Given the description of an element on the screen output the (x, y) to click on. 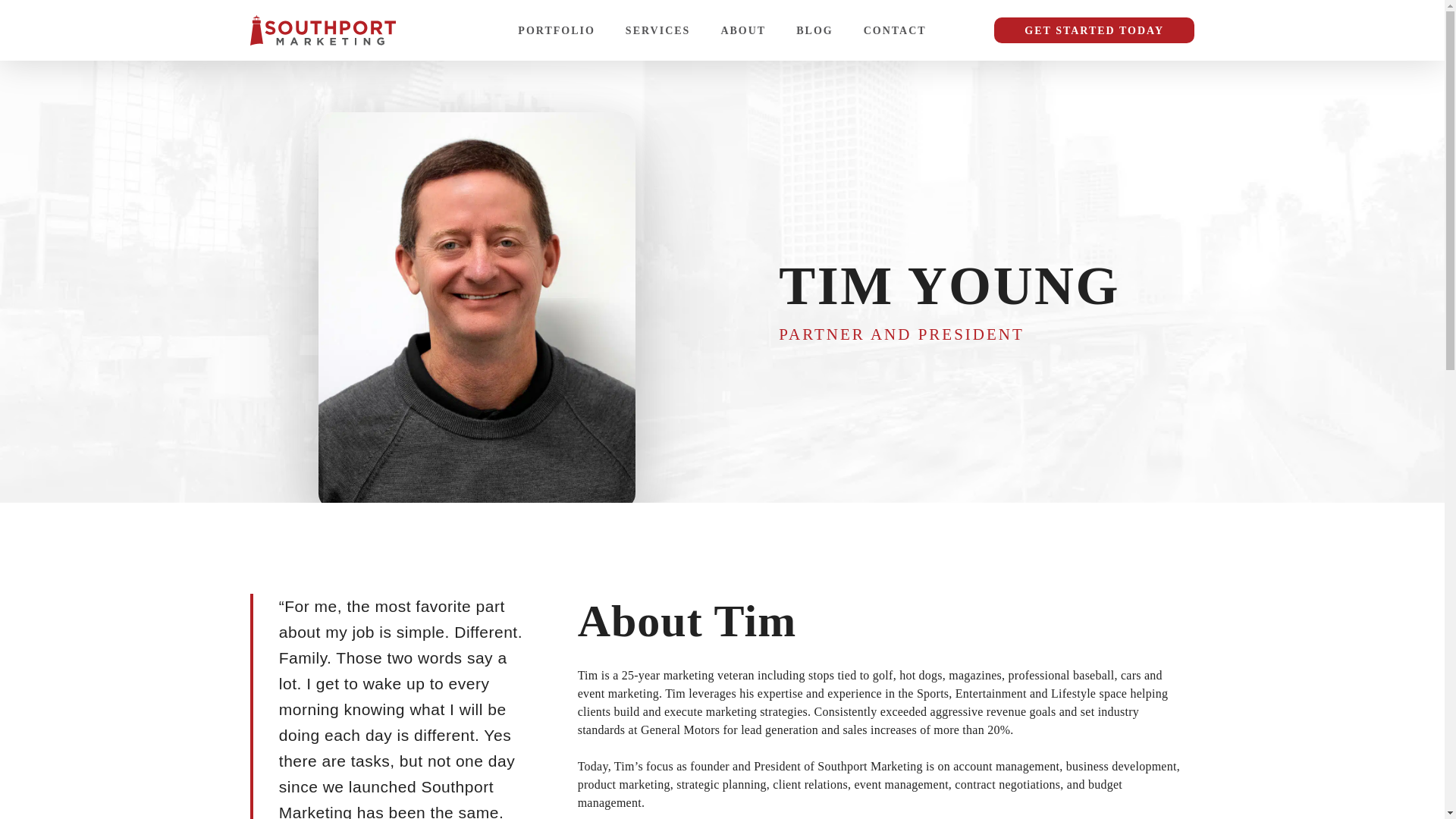
GET STARTED TODAY (1093, 33)
ABOUT (742, 29)
PORTFOLIO (556, 29)
CONTACT (894, 29)
SERVICES (658, 29)
BLOG (814, 29)
